Given the description of an element on the screen output the (x, y) to click on. 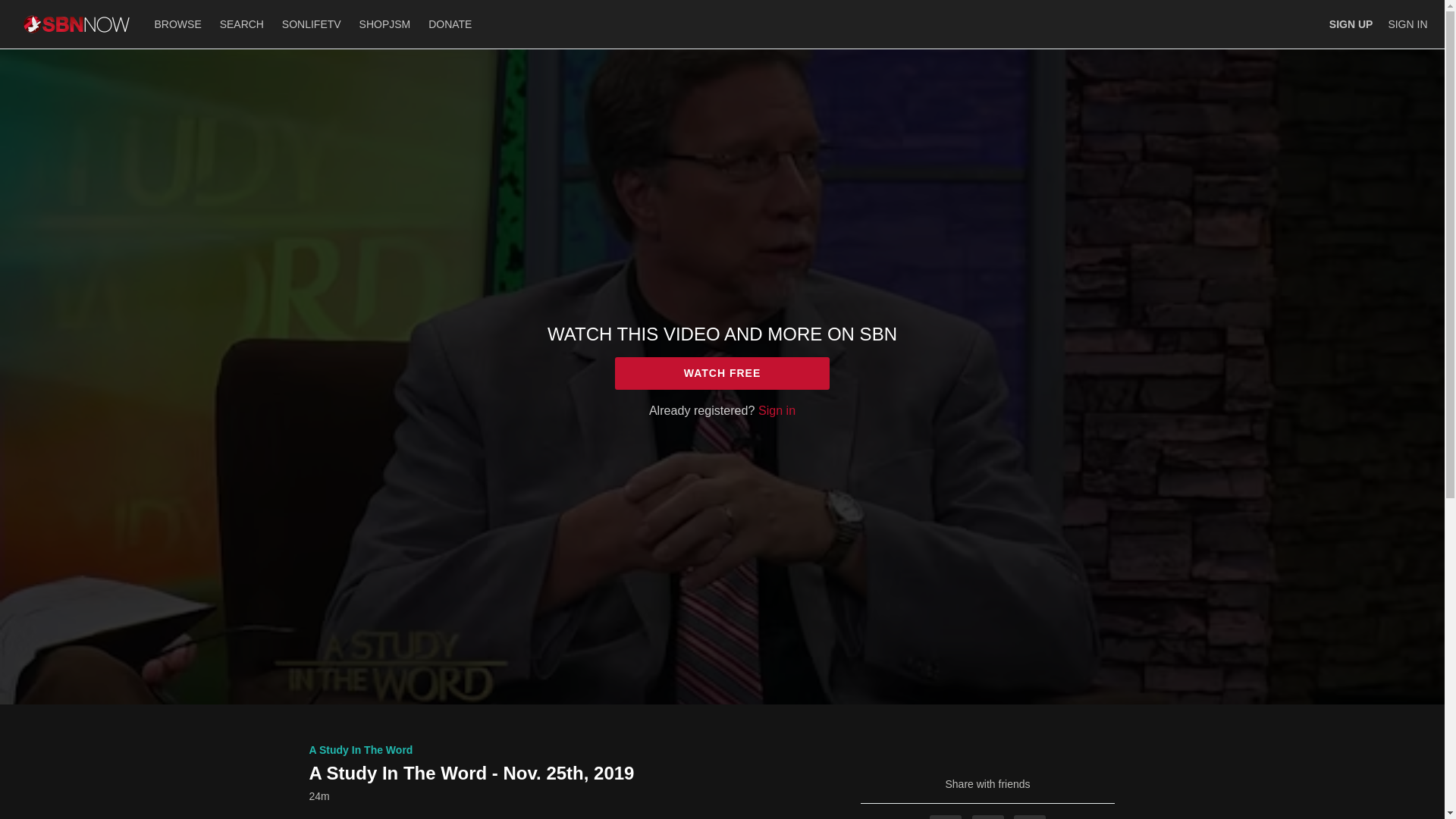
BROWSE (179, 24)
Email (1029, 816)
DONATE (449, 24)
Facebook (945, 816)
SHOPJSM (385, 24)
Skip to main content (48, 7)
Sign in (776, 409)
WATCH FREE (721, 373)
Twitter (988, 816)
SIGN UP (1351, 24)
SONLIFETV (312, 24)
SIGN IN (1406, 24)
SEARCH (243, 24)
A Study In The Word (360, 749)
